Given the description of an element on the screen output the (x, y) to click on. 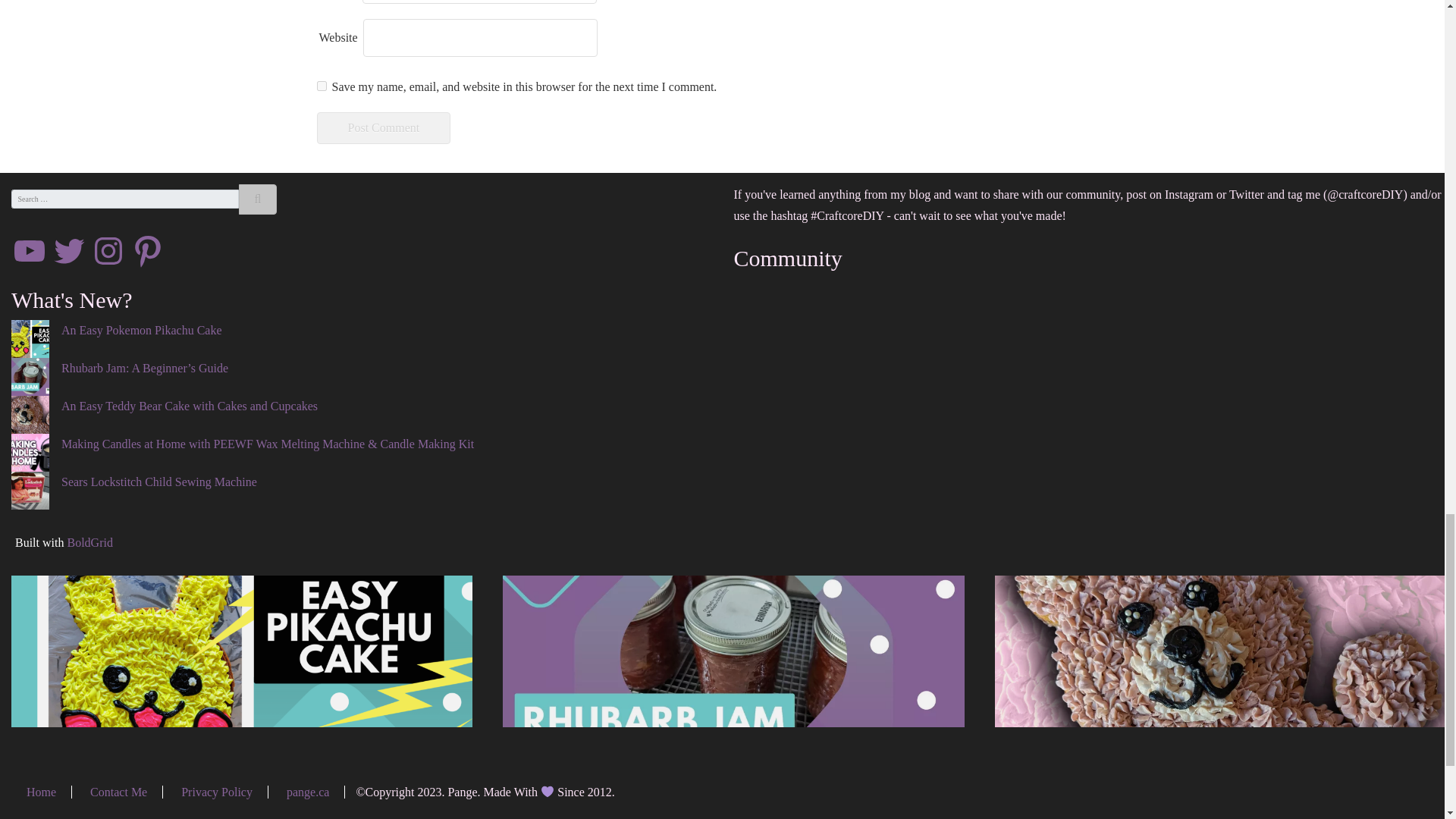
Post Comment (384, 128)
yes (321, 85)
Post Comment (384, 128)
